Given the description of an element on the screen output the (x, y) to click on. 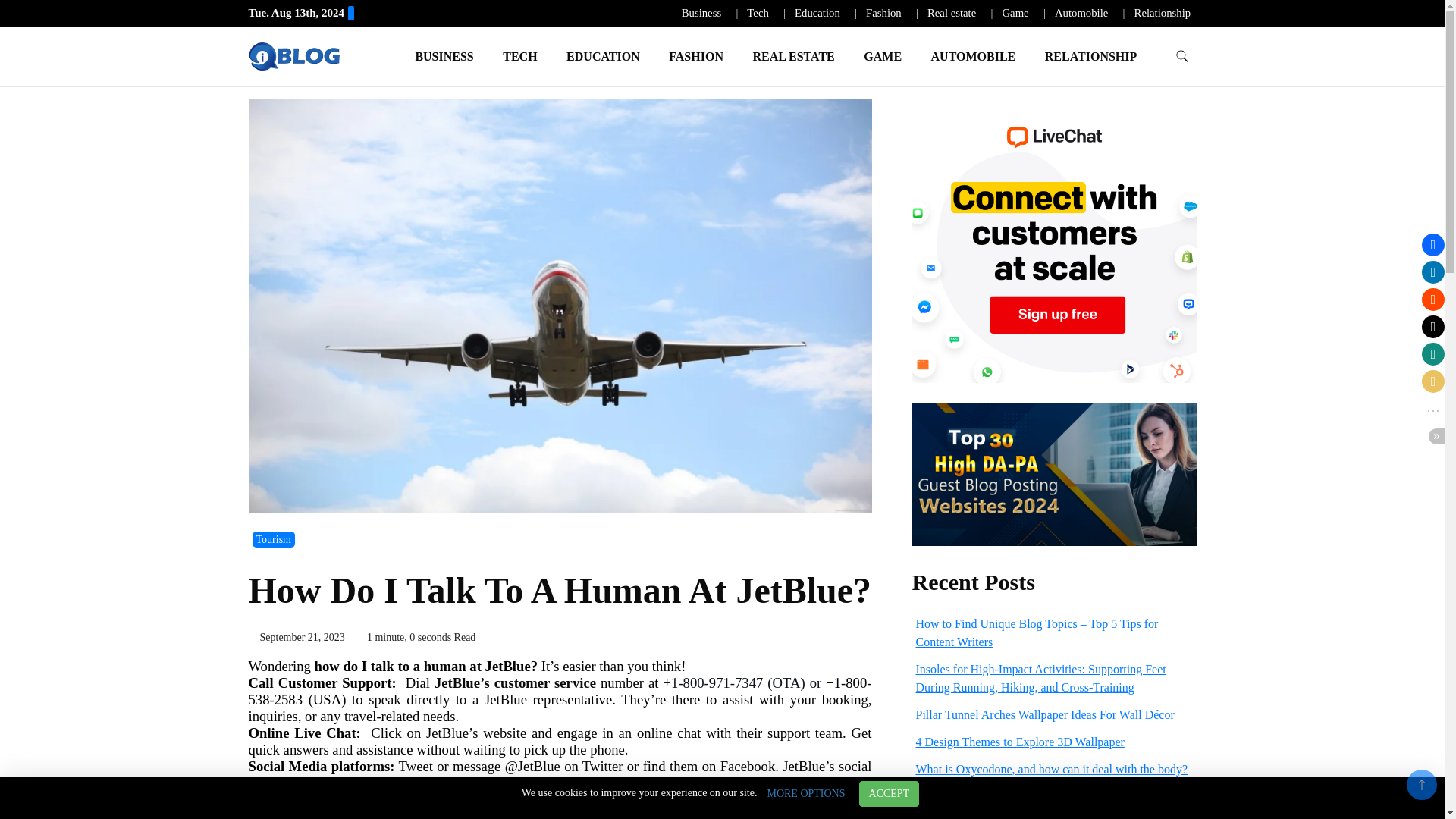
September 21, 2023 (301, 636)
EDUCATION (602, 56)
TECH (519, 56)
BUSINESS (443, 56)
GAME (882, 56)
Tourism (272, 539)
Business (700, 12)
AUTOMOBILE (973, 56)
Relationship (1162, 12)
Tech (757, 12)
